Given the description of an element on the screen output the (x, y) to click on. 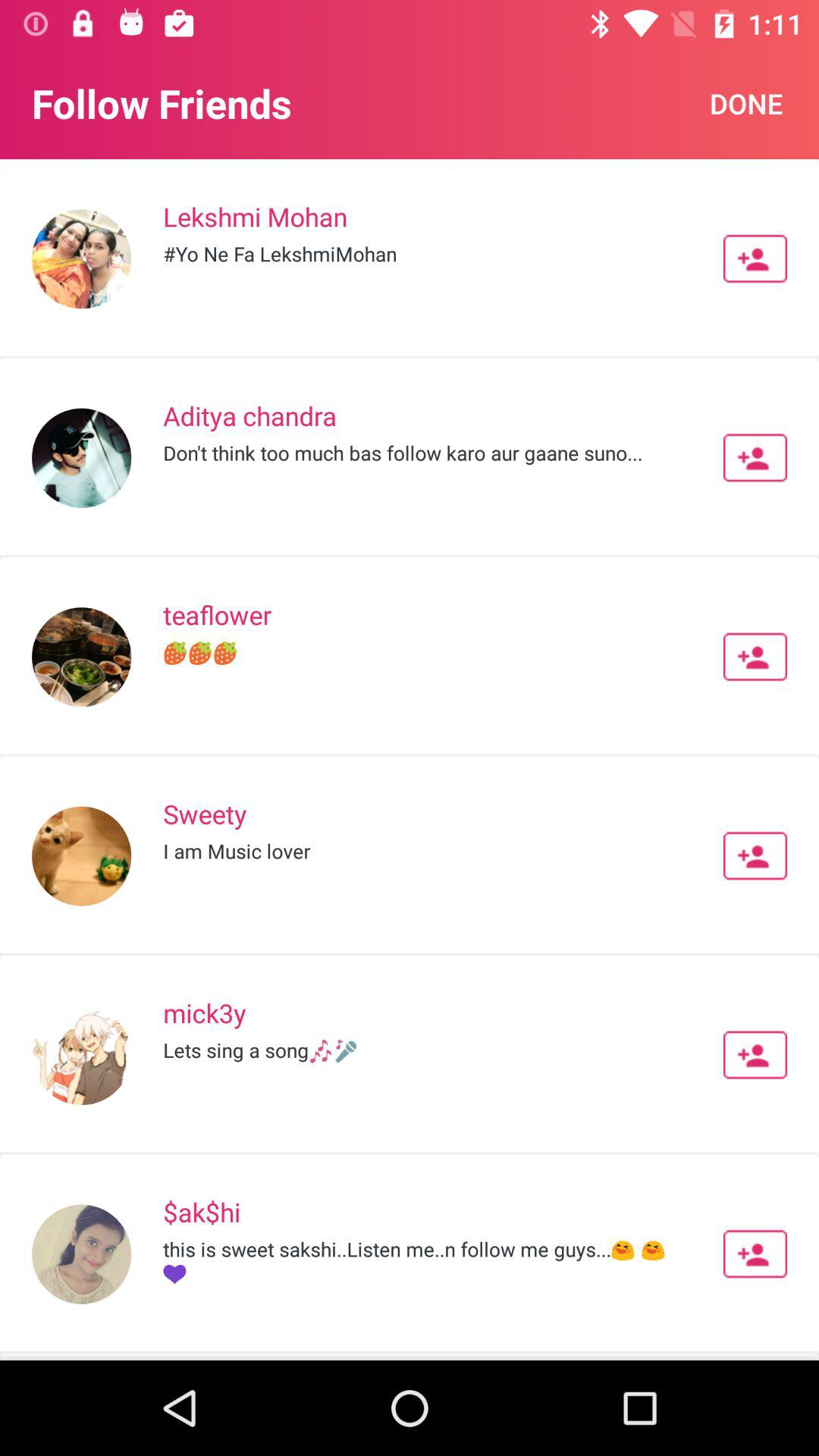
add to friends list (755, 258)
